Given the description of an element on the screen output the (x, y) to click on. 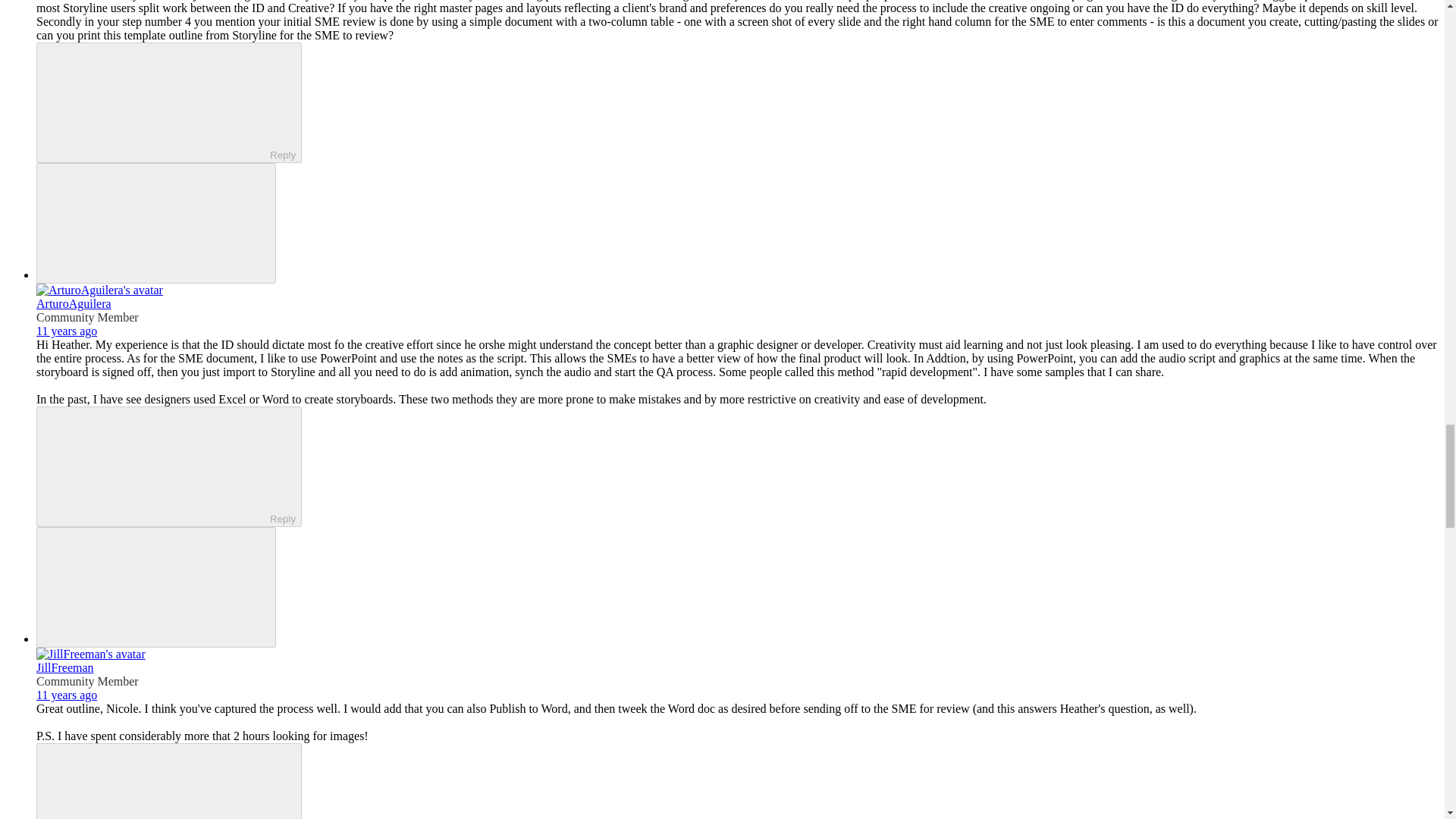
Reply (155, 101)
Reply (155, 465)
Reply (155, 782)
October 15, 2013 at 10:48 AM (66, 330)
October 18, 2013 at 7:47 PM (66, 694)
